Given the description of an element on the screen output the (x, y) to click on. 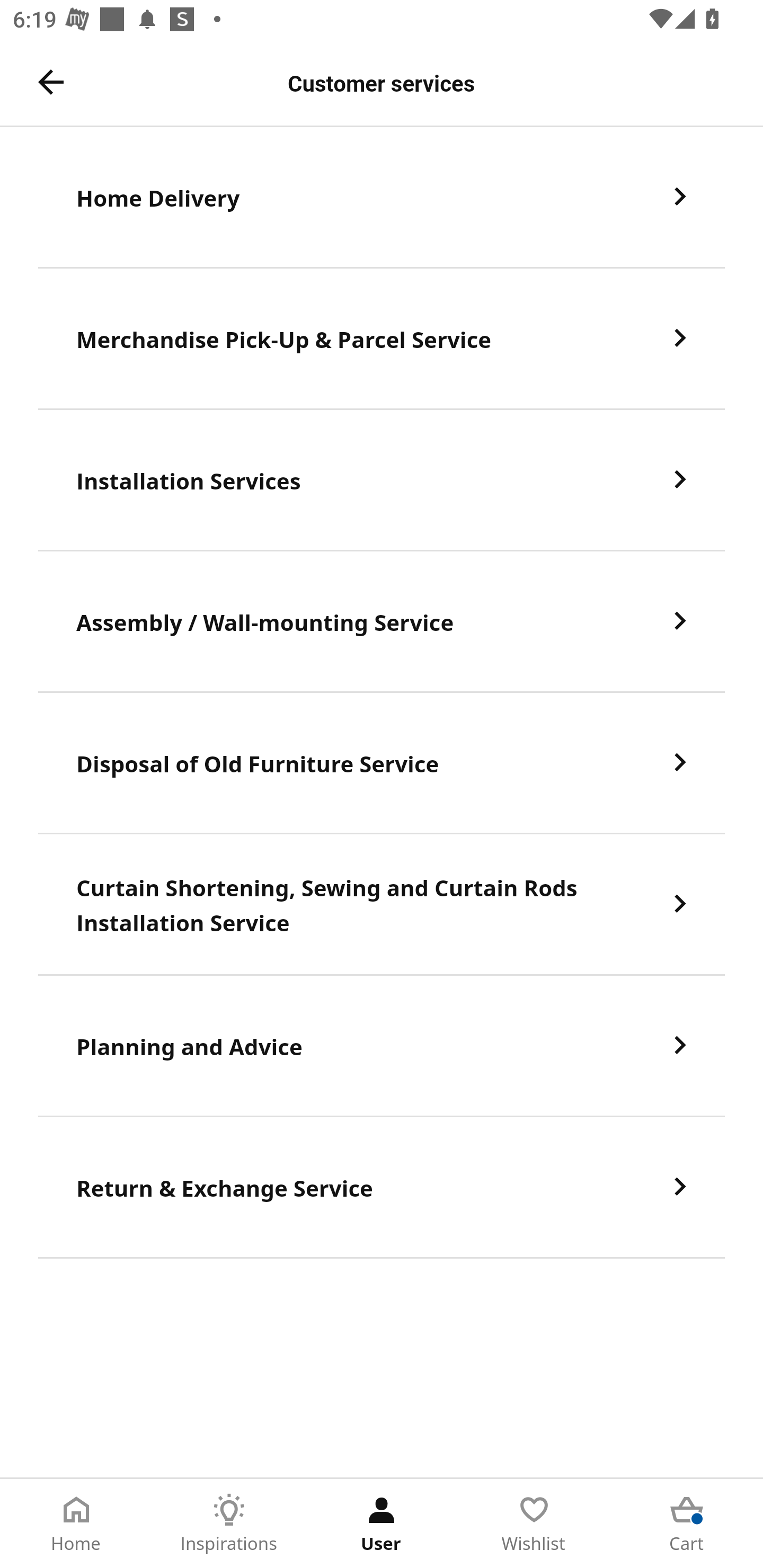
Home Delivery (381, 197)
Merchandise Pick-Up & Parcel Service (381, 338)
Installation Services (381, 480)
Assembly / Wall-mounting Service (381, 622)
Disposal of Old Furniture Service (381, 763)
Planning and Advice (381, 1045)
Return & Exchange Service (381, 1187)
Home
Tab 1 of 5 (76, 1522)
Inspirations
Tab 2 of 5 (228, 1522)
User
Tab 3 of 5 (381, 1522)
Wishlist
Tab 4 of 5 (533, 1522)
Cart
Tab 5 of 5 (686, 1522)
